Given the description of an element on the screen output the (x, y) to click on. 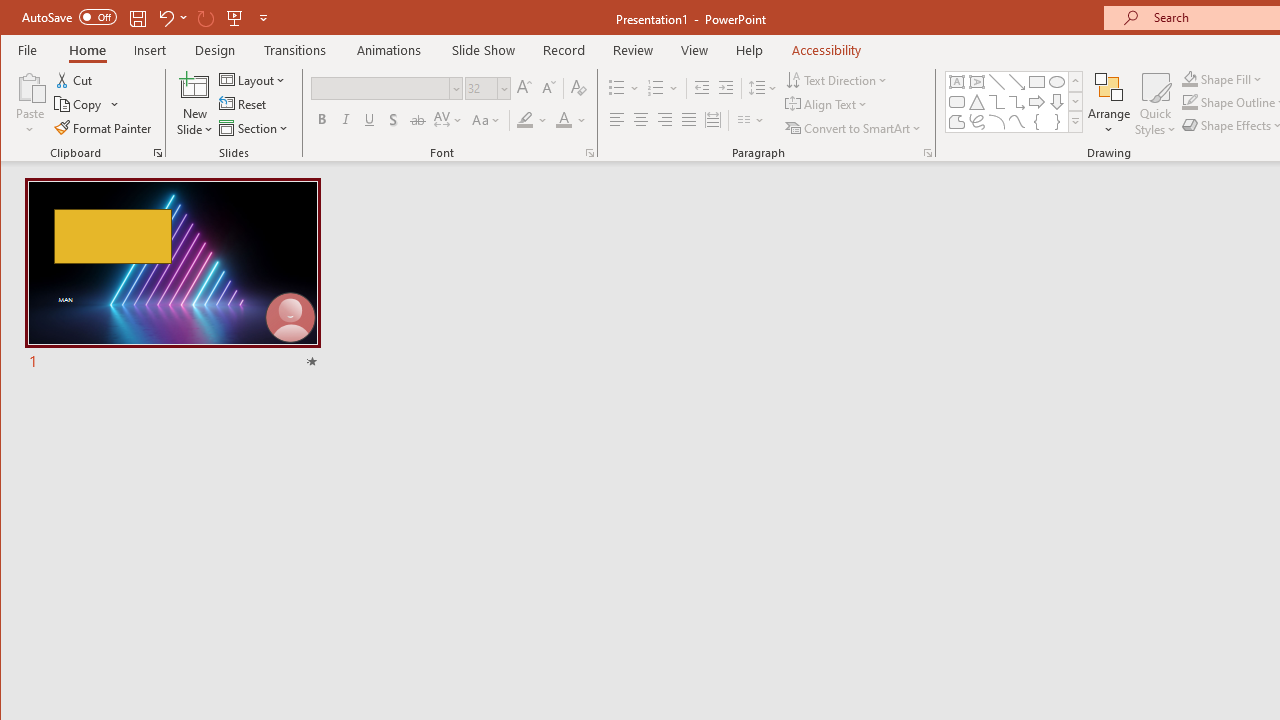
Copy (87, 103)
Class: NetUIImage (1076, 121)
Strikethrough (417, 119)
Customize Quick Access Toolbar (263, 17)
Home (87, 50)
From Beginning (235, 17)
Section (255, 127)
Help (749, 50)
Numbering (663, 88)
Freeform: Scribble (976, 121)
Shadow (393, 119)
Text Box (956, 82)
Clear Formatting (579, 88)
Shapes (1074, 121)
Text Highlight Color Yellow (525, 119)
